Given the description of an element on the screen output the (x, y) to click on. 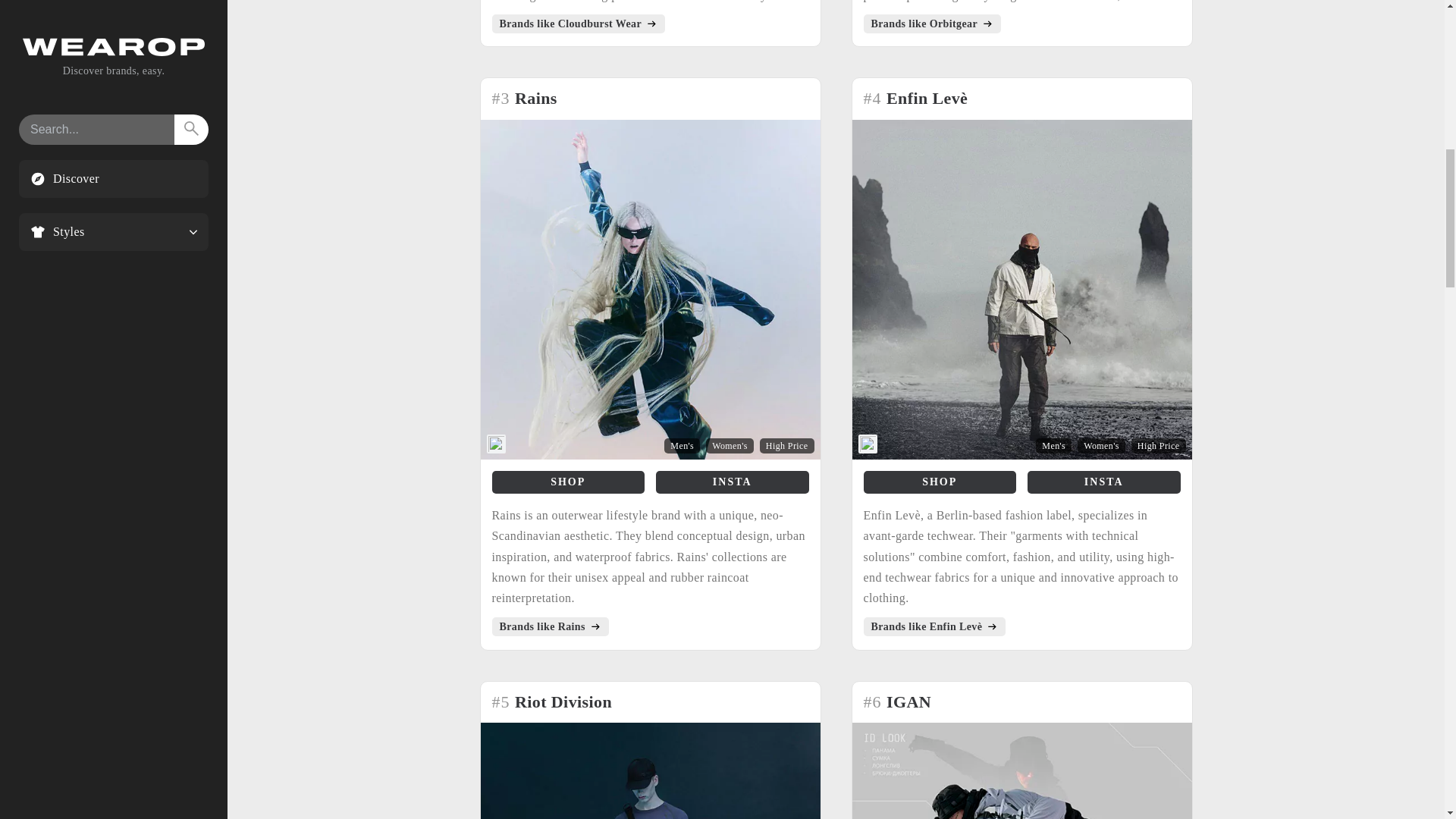
SHOP (939, 481)
Brands like Orbitgear (931, 23)
SHOP (568, 481)
Brands like Cloudburst Wear (577, 23)
INSTA (1103, 481)
Brands like Rains (550, 626)
INSTA (732, 481)
